Given the description of an element on the screen output the (x, y) to click on. 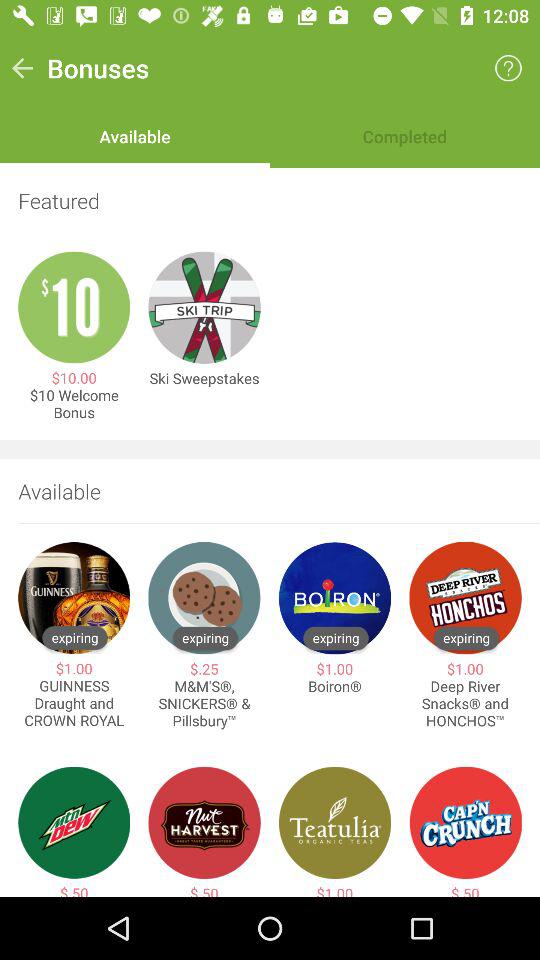
turn on icon next to guinness draught and icon (204, 704)
